Given the description of an element on the screen output the (x, y) to click on. 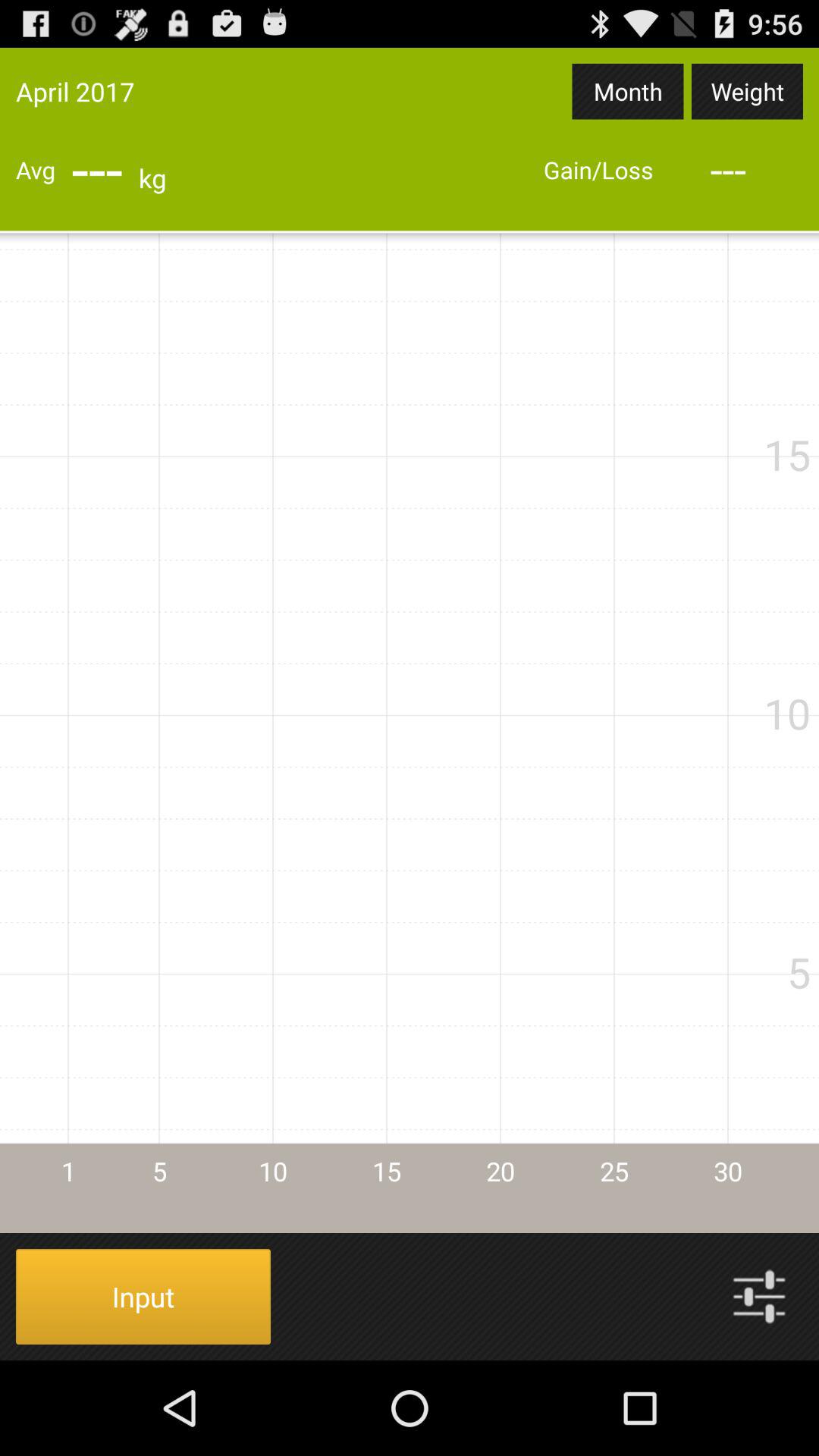
turn off the icon at the bottom right corner (759, 1296)
